Given the description of an element on the screen output the (x, y) to click on. 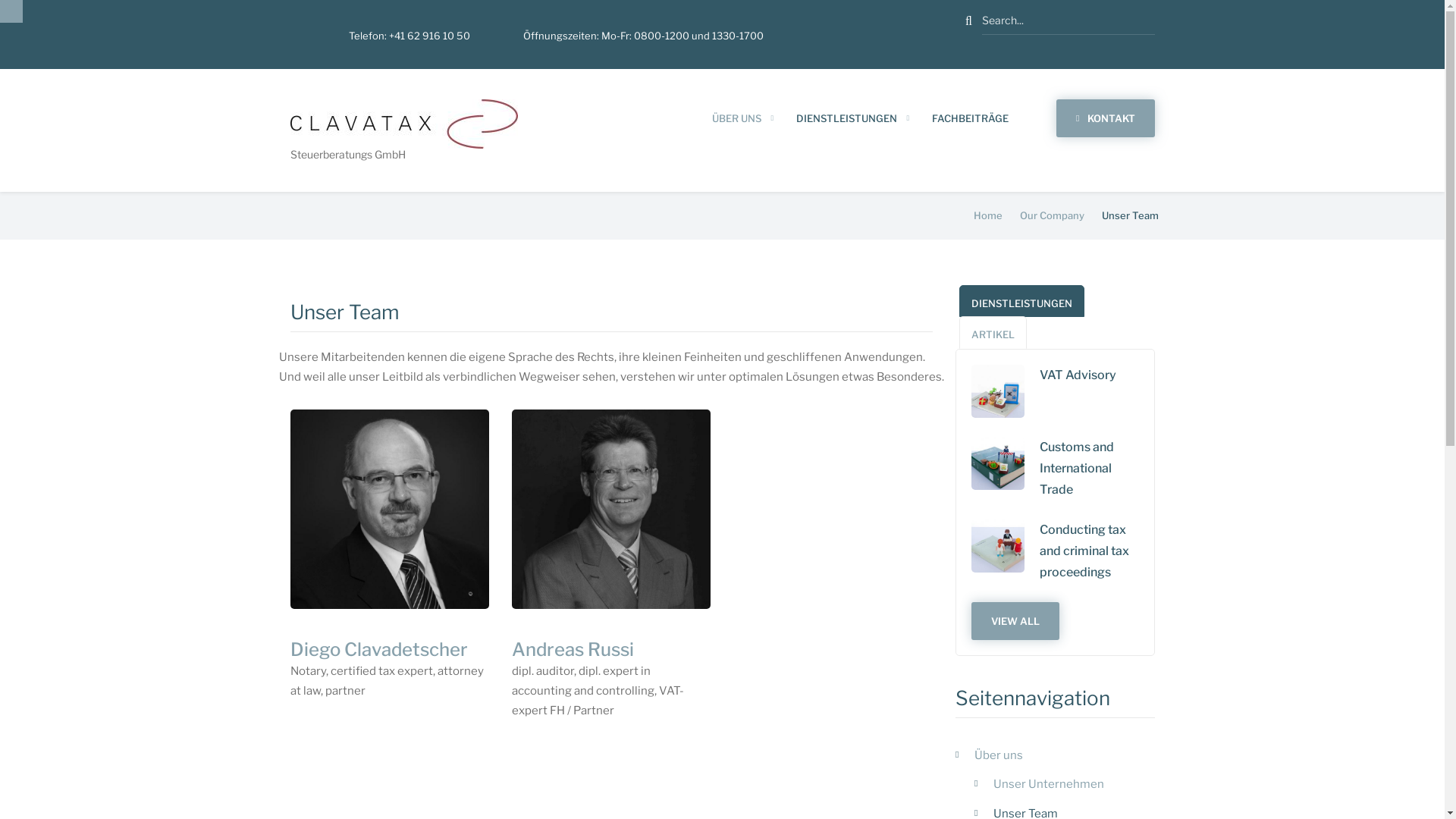
Home Element type: hover (403, 122)
ARTIKEL Element type: text (992, 332)
VIEW ALL Element type: text (1015, 621)
Conducting tax and criminal tax proceedings Element type: text (1089, 551)
Conducting tax and criminal tax proceedings Element type: hover (997, 545)
Andreas Russi Element type: text (572, 649)
DIENSTLEISTUNGEN Element type: text (846, 118)
Home Element type: text (987, 215)
VAT Advisory - different VAT rates Element type: hover (997, 390)
VAT Advisory Element type: text (1089, 374)
Unser Unternehmen Element type: text (1064, 784)
Customs and International Trade Element type: text (1089, 468)
Diego Clavadetscher Element type: text (378, 649)
Skip to main content Element type: text (0, 0)
KONTAKT Element type: text (1105, 118)
DIENSTLEISTUNGEN Element type: text (1021, 301)
Our Company Element type: text (1051, 215)
Customs and International Trade Element type: hover (997, 462)
Search Element type: text (968, 20)
Enter the terms you wish to search for. Element type: hover (1068, 20)
